Given the description of an element on the screen output the (x, y) to click on. 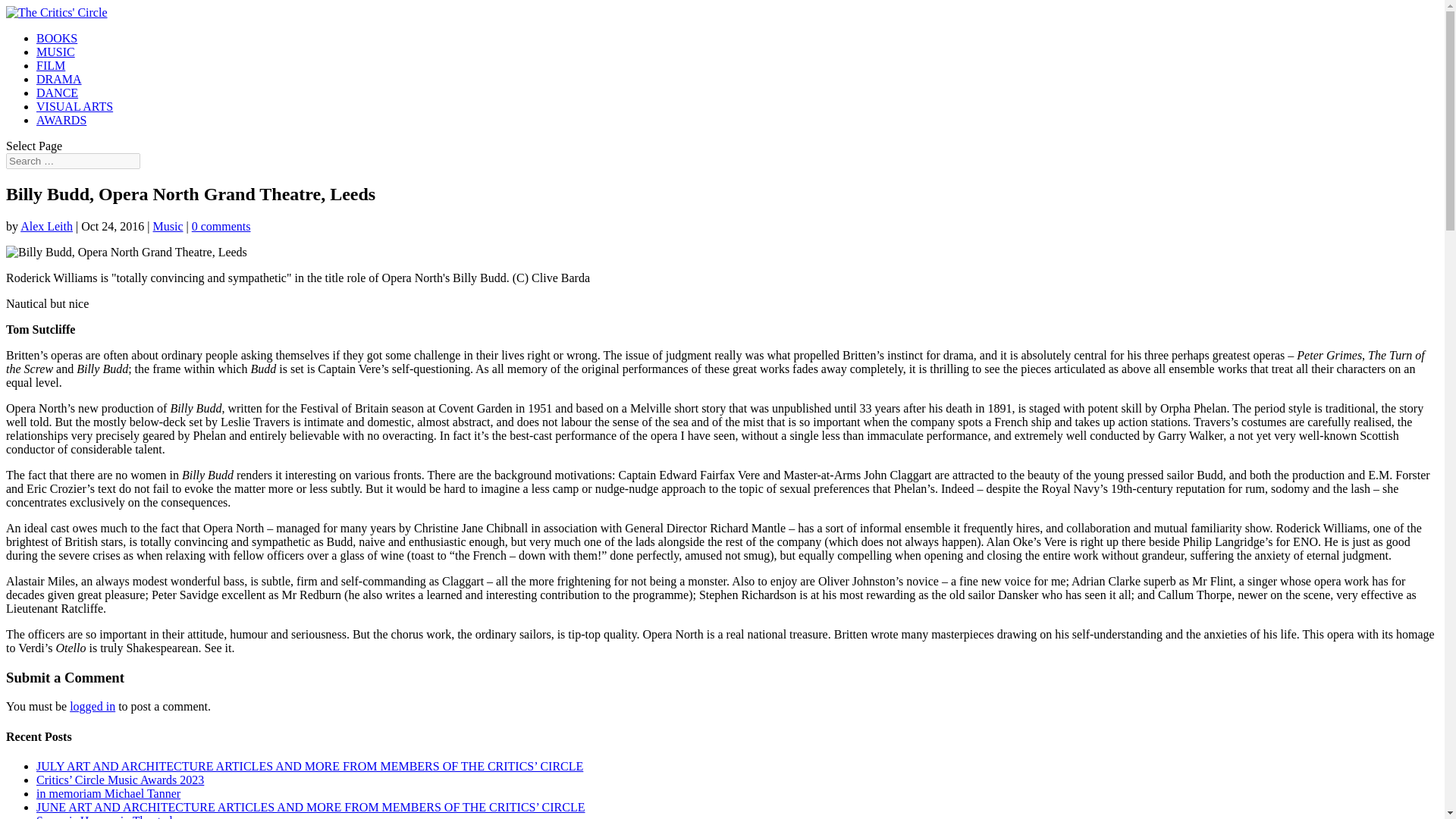
Music (167, 226)
0 comments (221, 226)
FILM (50, 65)
VISUAL ARTS (74, 106)
Seven is Heaven in Thaxted (103, 816)
Alex Leith (46, 226)
DANCE (57, 92)
Posts by Alex Leith (46, 226)
Search for: (72, 160)
BOOKS (56, 38)
